Given the description of an element on the screen output the (x, y) to click on. 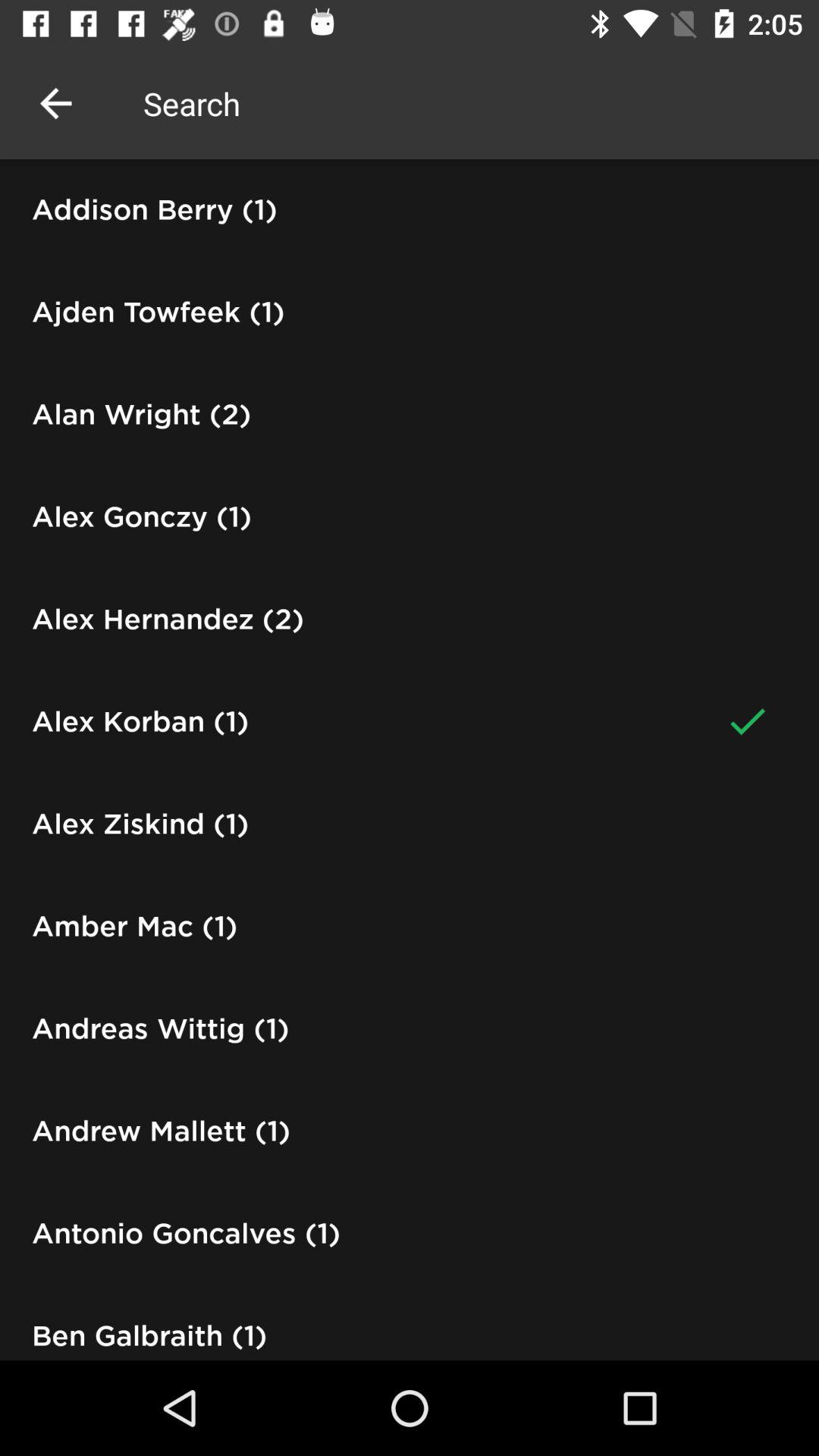
open the icon next to the search icon (55, 103)
